Given the description of an element on the screen output the (x, y) to click on. 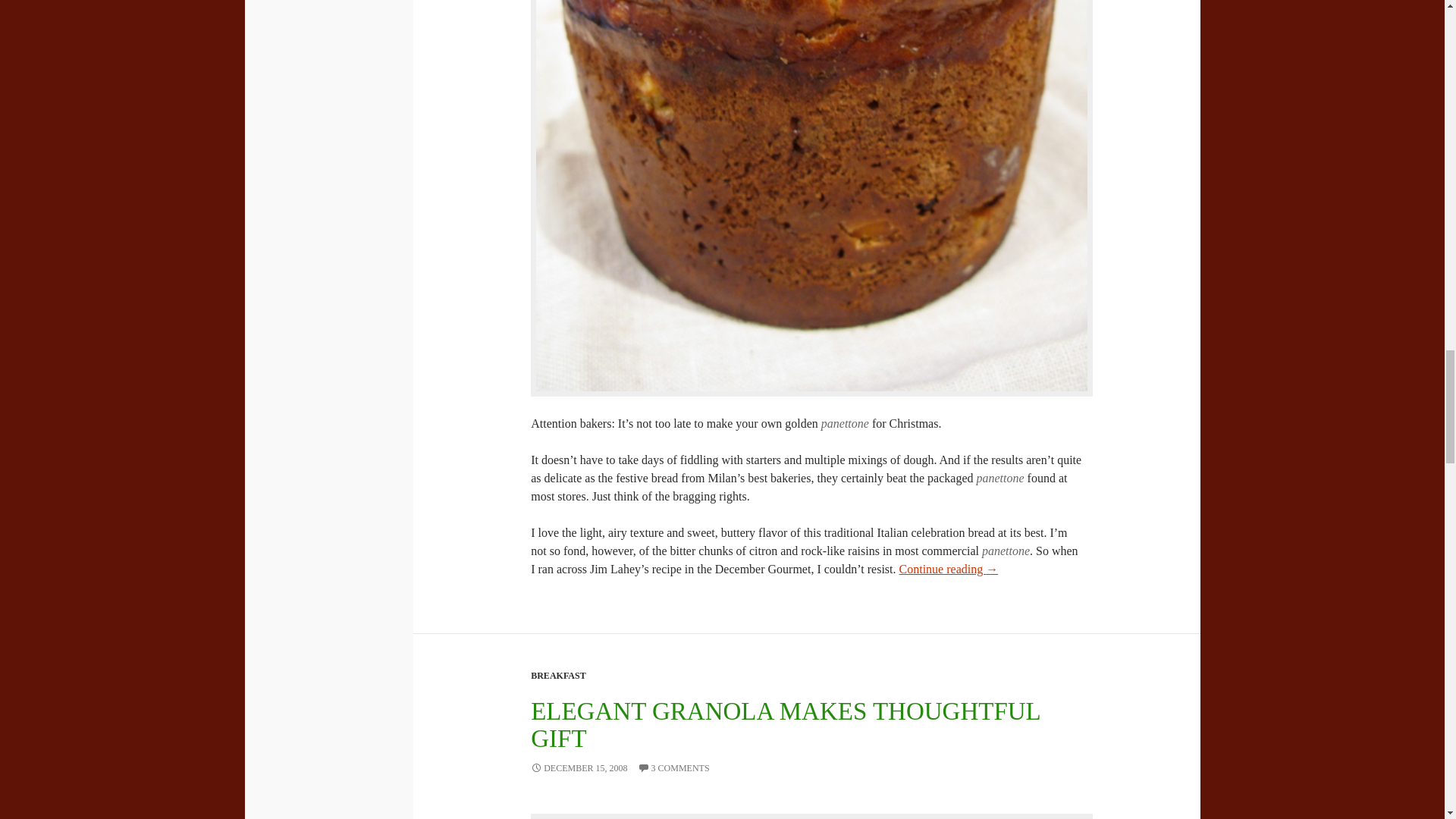
3 COMMENTS (673, 767)
ELEGANT GRANOLA MAKES THOUGHTFUL GIFT (785, 724)
BREAKFAST (558, 675)
DECEMBER 15, 2008 (579, 767)
